Given the description of an element on the screen output the (x, y) to click on. 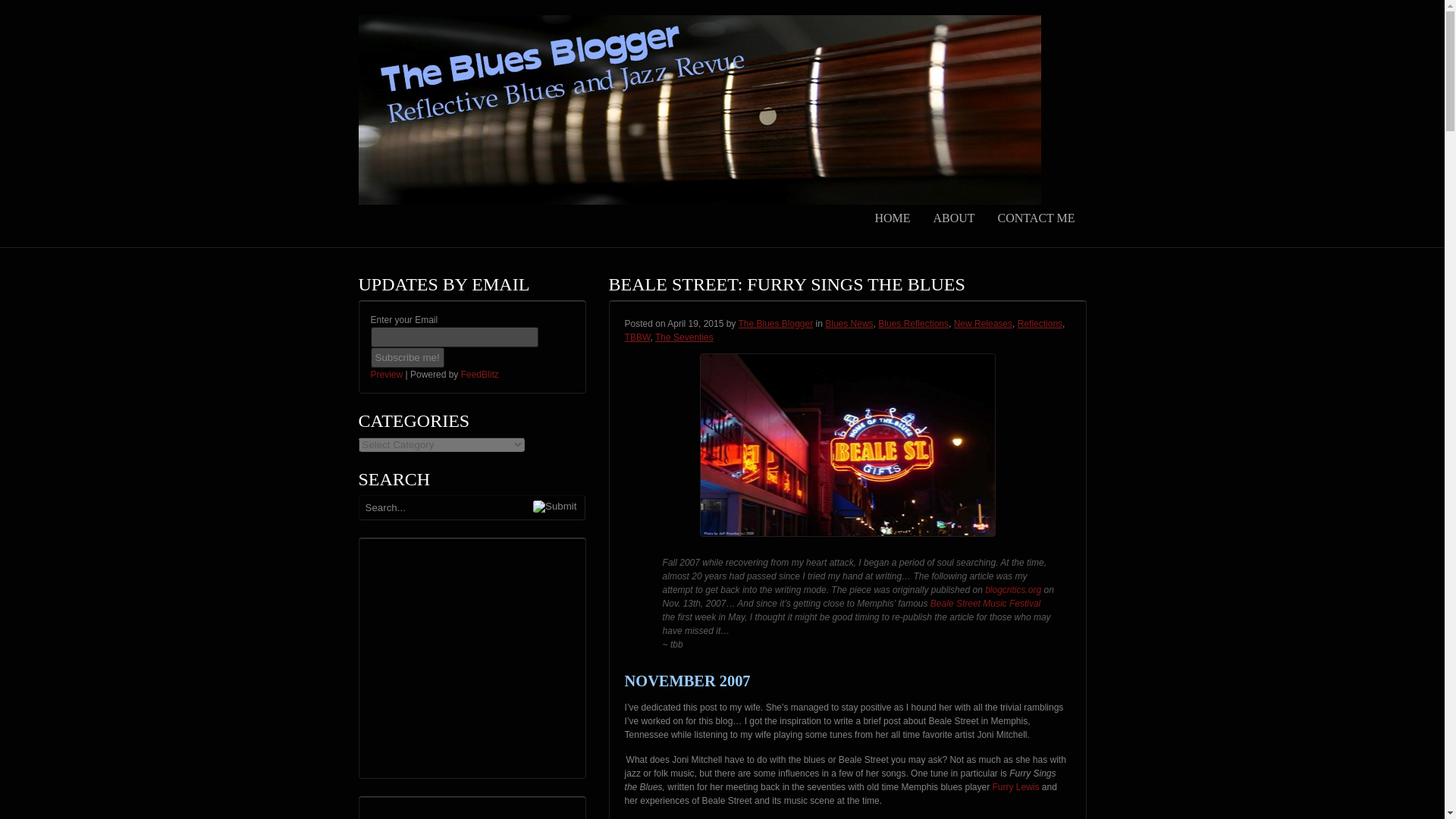
HOME (892, 217)
Furry Lewis (1015, 787)
New Releases (982, 323)
Blues News (848, 323)
Search... (460, 507)
CONTACT ME (1036, 217)
Reflections (1039, 323)
blogcritics.org (1013, 589)
TBBW (637, 337)
Posts by The Blues Blogger (775, 323)
